Given the description of an element on the screen output the (x, y) to click on. 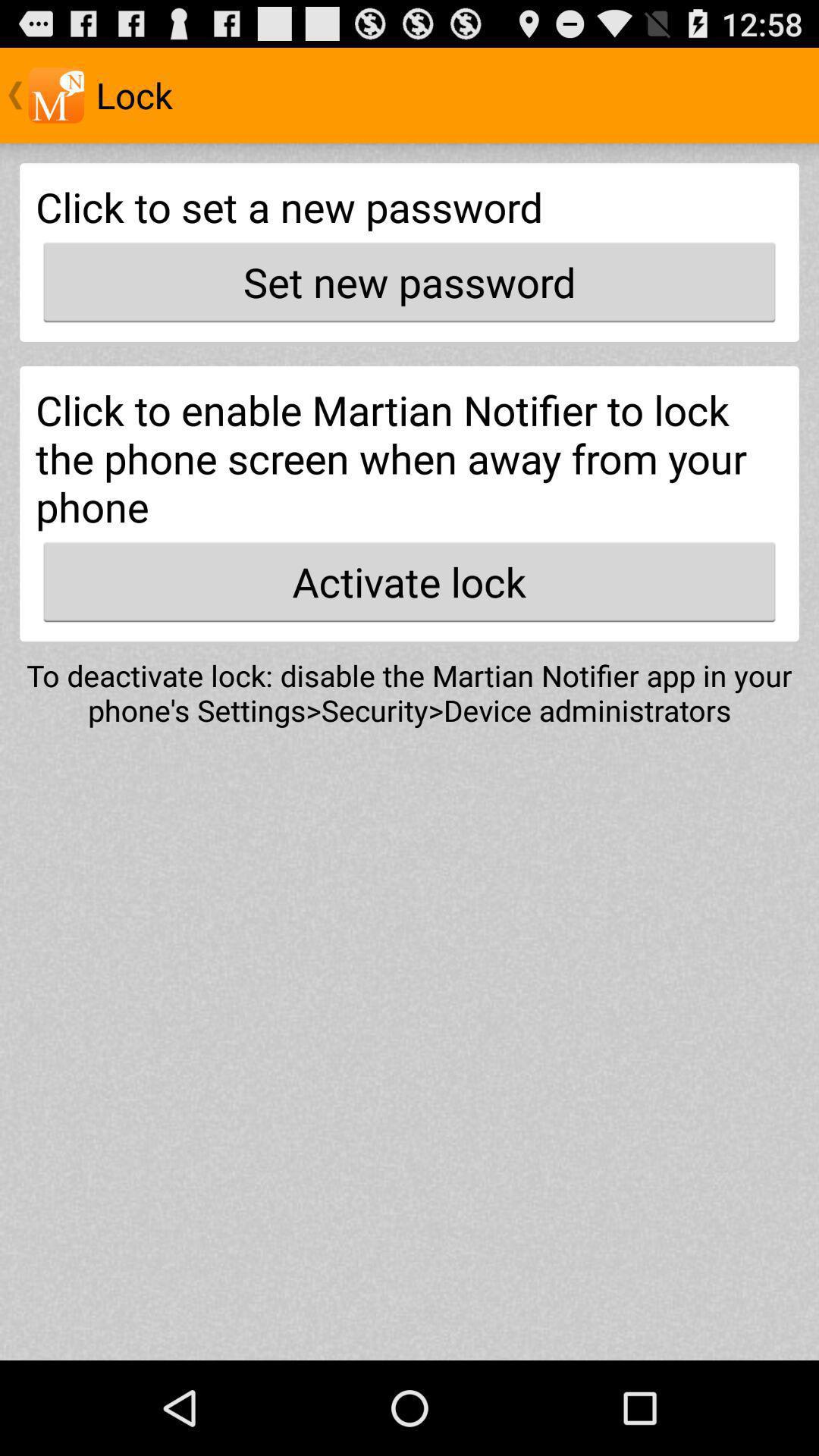
tap activate lock icon (409, 581)
